Given the description of an element on the screen output the (x, y) to click on. 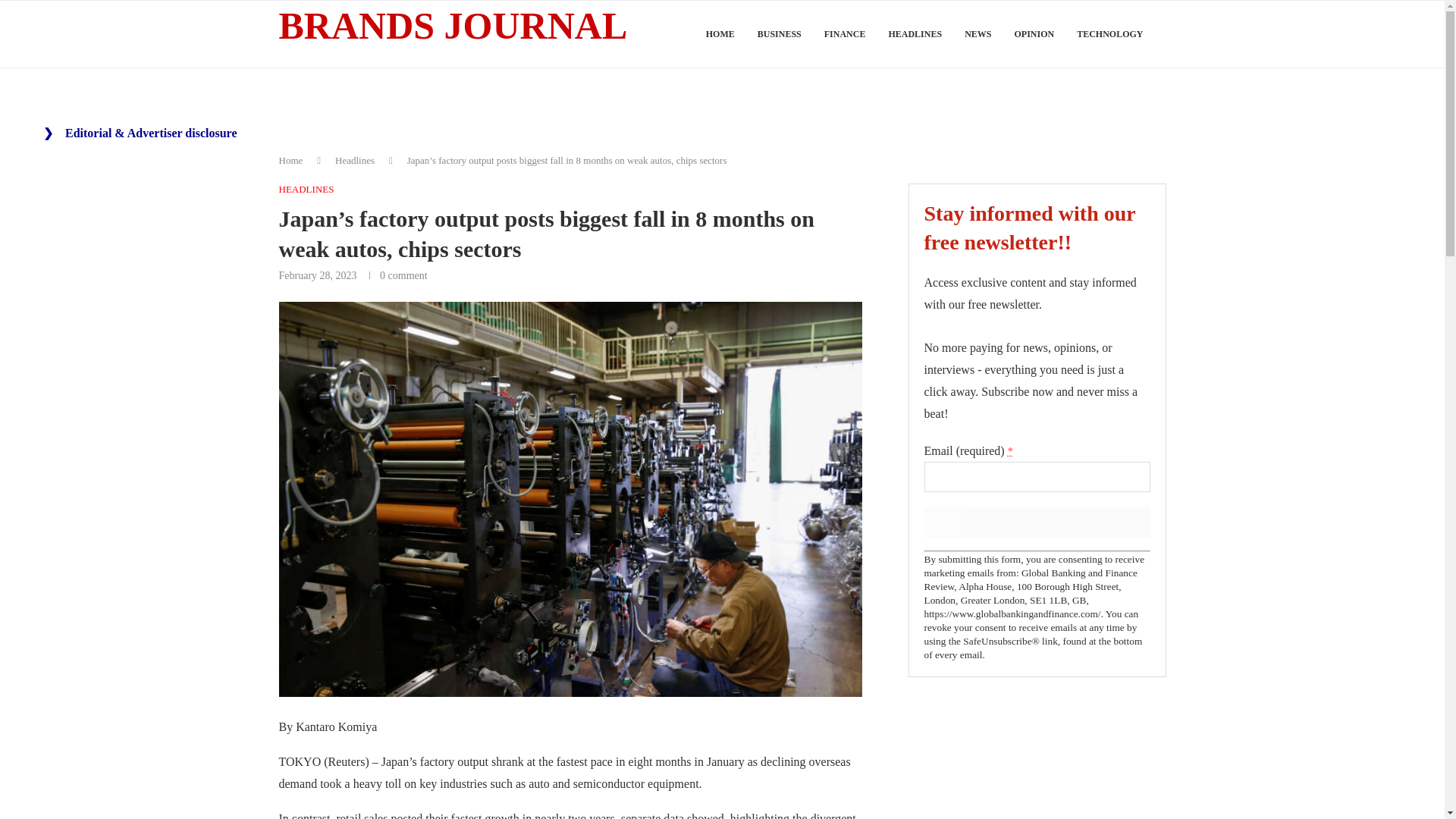
Headlines (354, 160)
TECHNOLOGY (1109, 33)
BRANDS JOURNAL (453, 26)
Sign up! (1036, 522)
HEADLINES (306, 189)
Sign up! (1036, 522)
Home (290, 160)
